Given the description of an element on the screen output the (x, y) to click on. 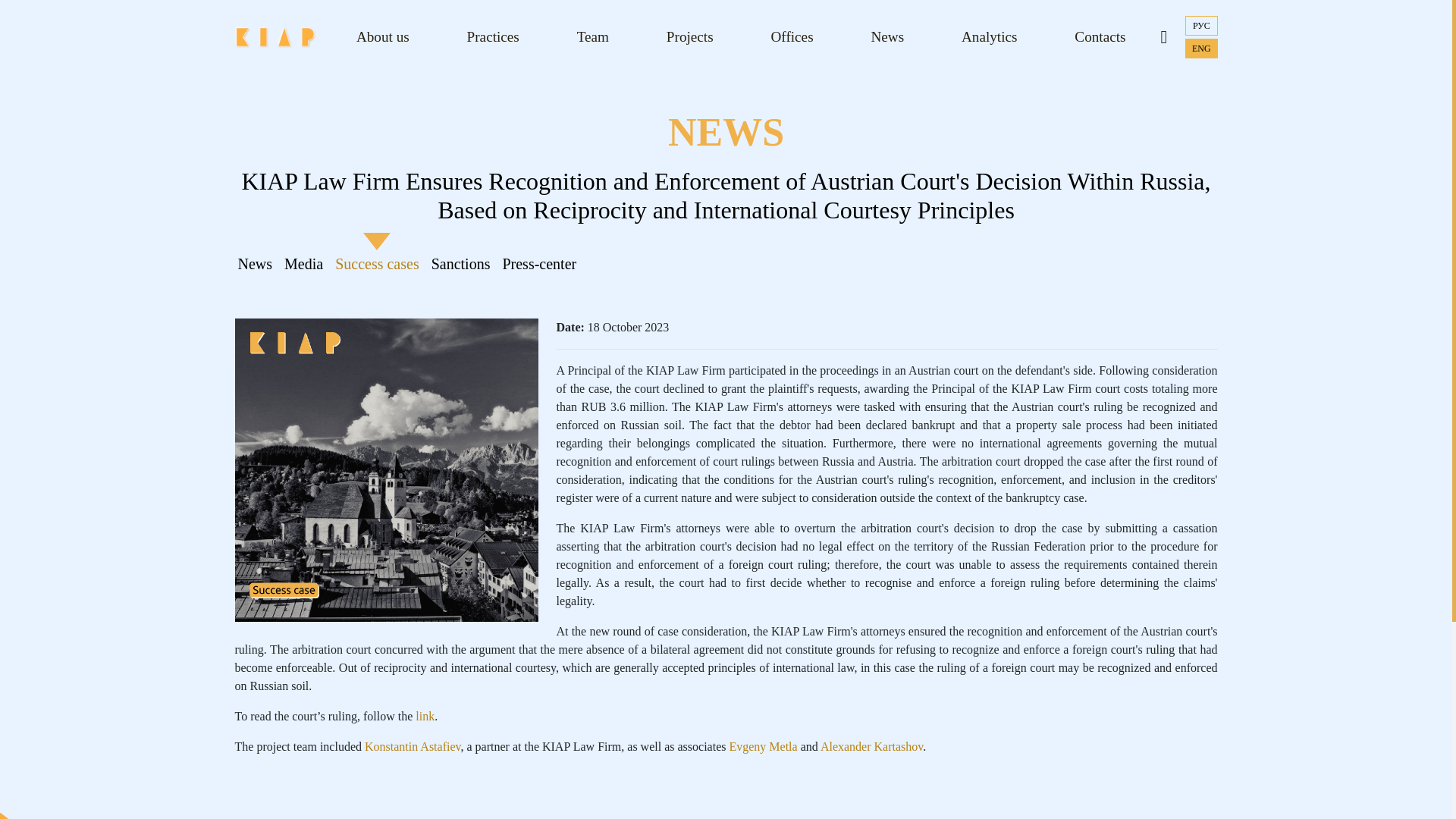
Offices (791, 37)
News (255, 264)
Analytics (989, 37)
Projects (689, 37)
Contacts (1099, 37)
About us (382, 37)
Practices (492, 37)
KIAP Law Firm (274, 36)
About us (382, 37)
